Given the description of an element on the screen output the (x, y) to click on. 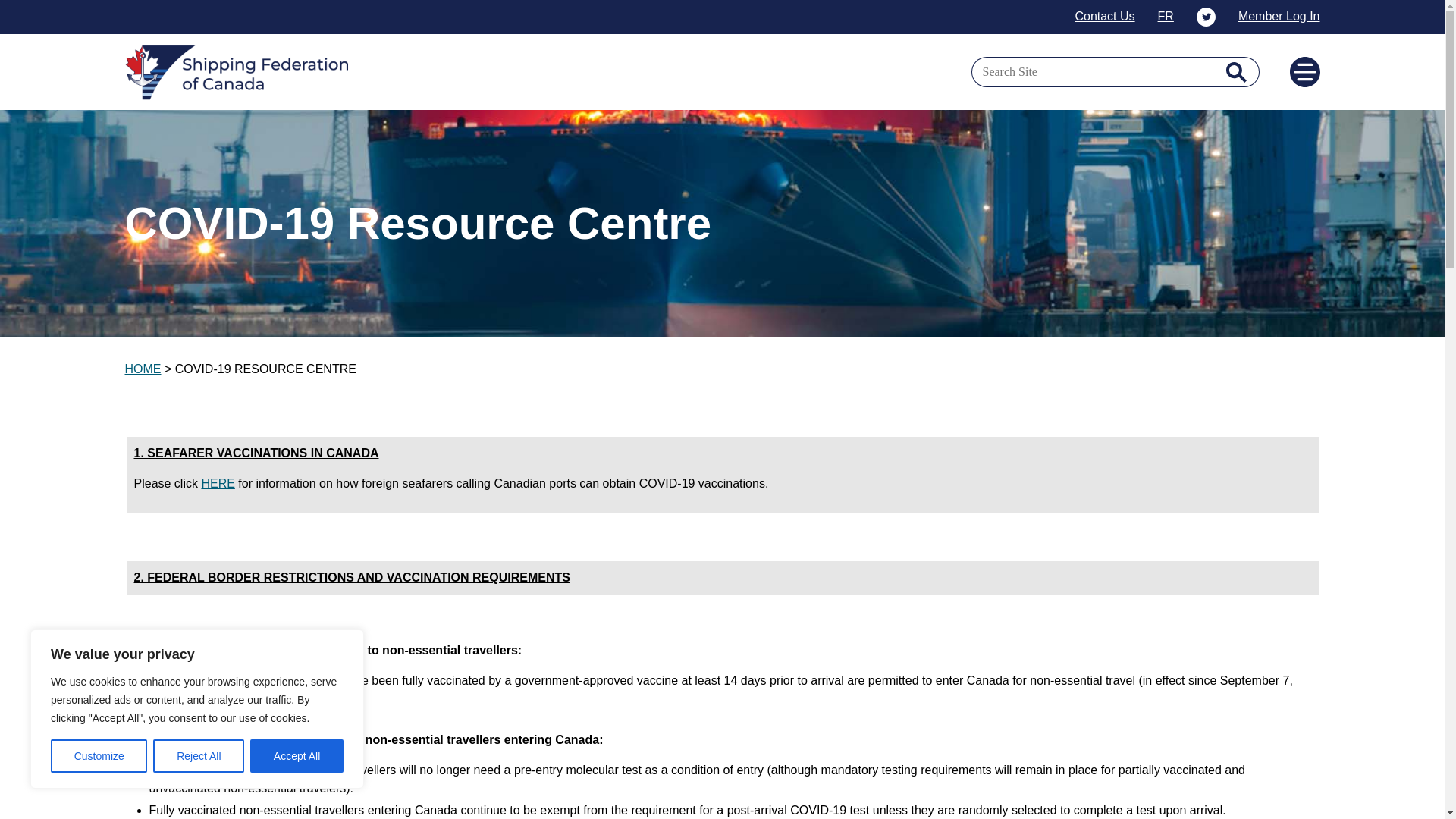
Accept All (296, 756)
Contact Us (1104, 16)
Reject All (198, 756)
Customize (98, 756)
suuuubmit (1235, 71)
Member Log In (1279, 16)
suuuubmit (1235, 71)
suuuubmit (1235, 71)
